Given the description of an element on the screen output the (x, y) to click on. 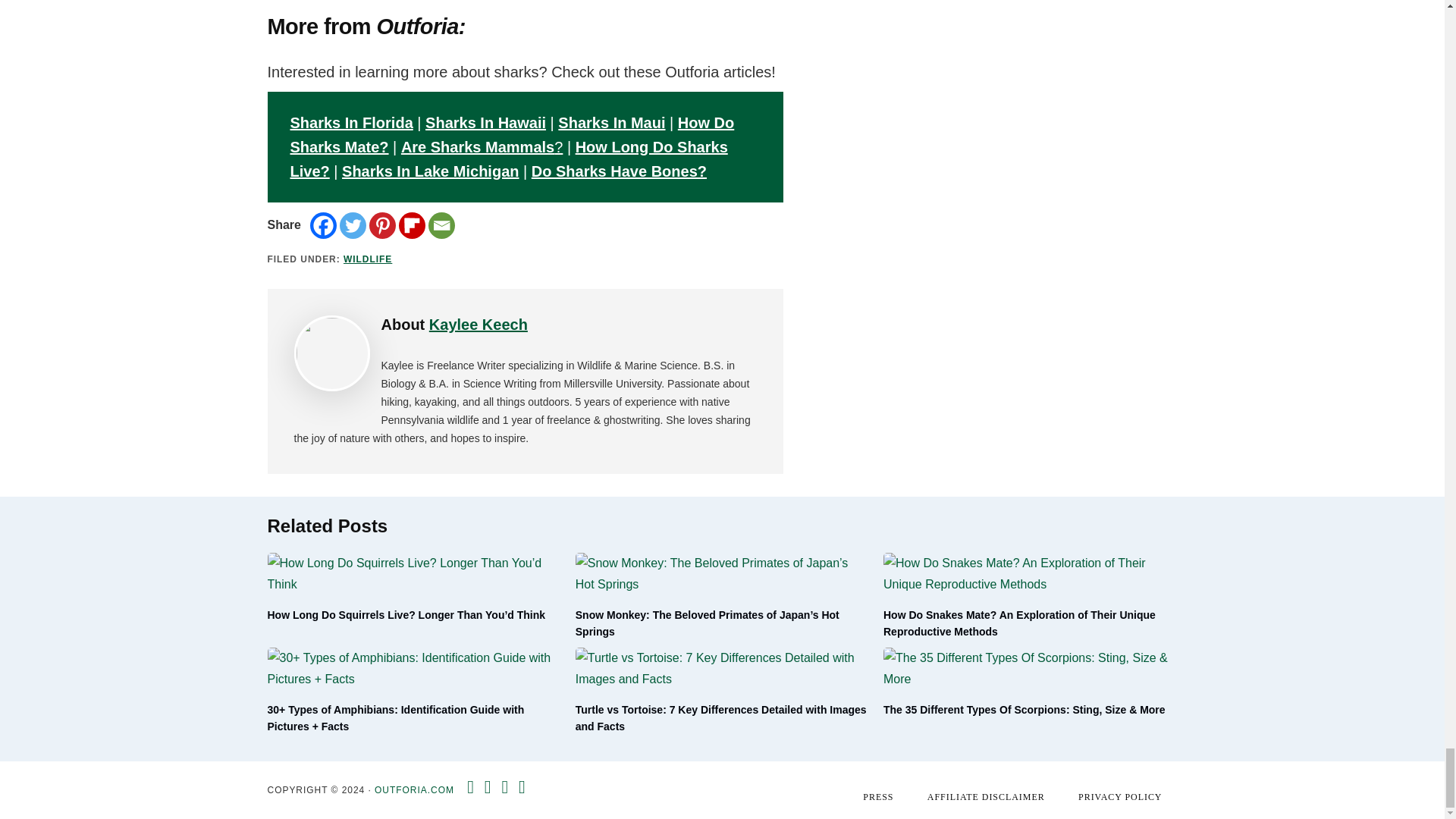
Flipboard (411, 225)
Email (441, 225)
Twitter (352, 225)
Facebook (323, 225)
Pinterest (382, 225)
